Given the description of an element on the screen output the (x, y) to click on. 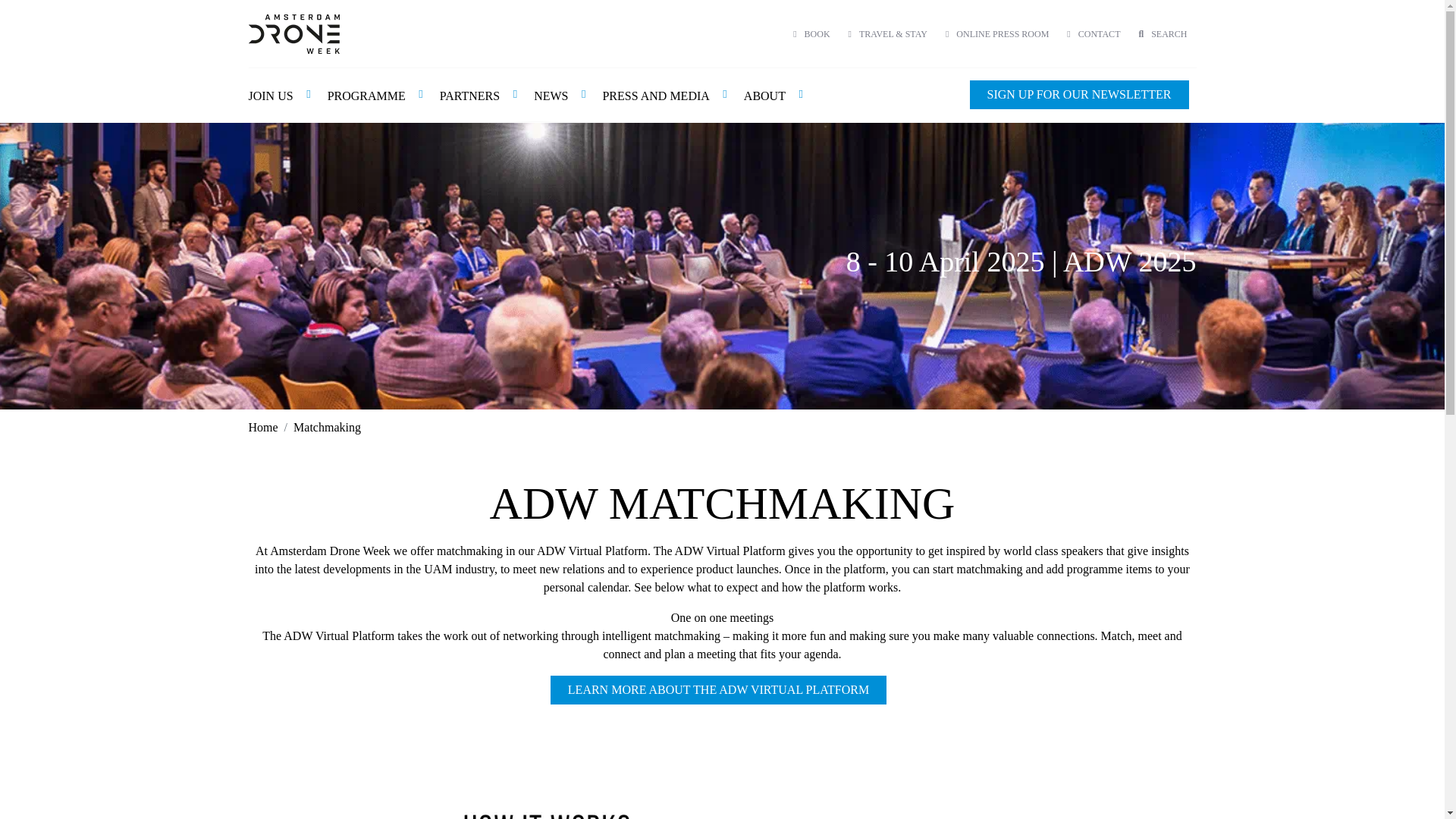
JOIN US (280, 94)
PROGRAMME (376, 94)
SEARCH (1162, 33)
ONLINE PRESS ROOM (997, 33)
PARTNERS (478, 94)
NEWS (560, 94)
BOOK (811, 33)
CONTACT (1093, 33)
